Given the description of an element on the screen output the (x, y) to click on. 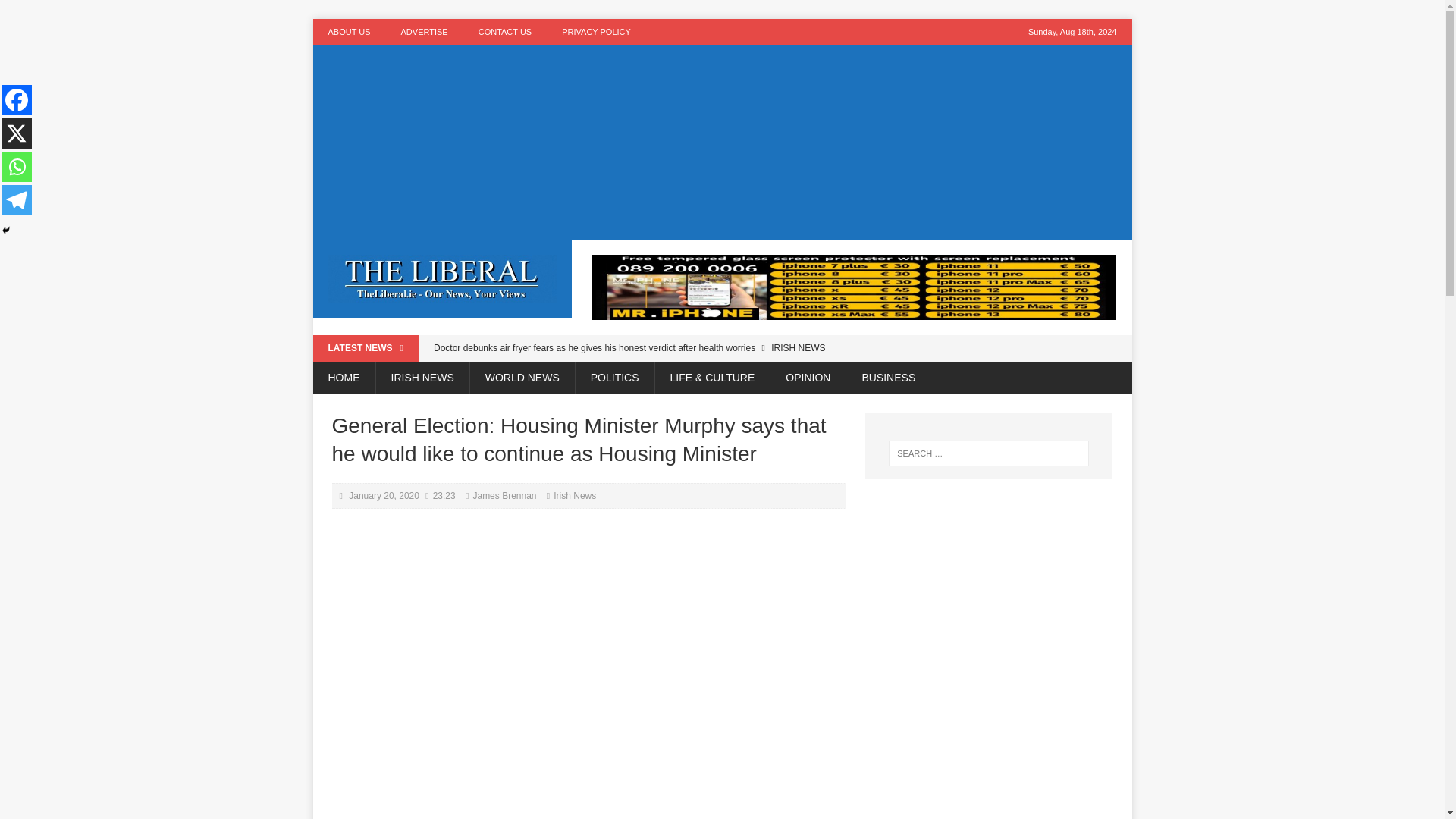
January 20, 2020 (384, 495)
ABOUT US (349, 31)
Hide (5, 230)
23:23 (443, 495)
ADVERTISE (424, 31)
TheLiberal.ie - Our News, Your Views (442, 278)
Telegram (16, 200)
Whatsapp (16, 166)
OPINION (807, 377)
